Given the description of an element on the screen output the (x, y) to click on. 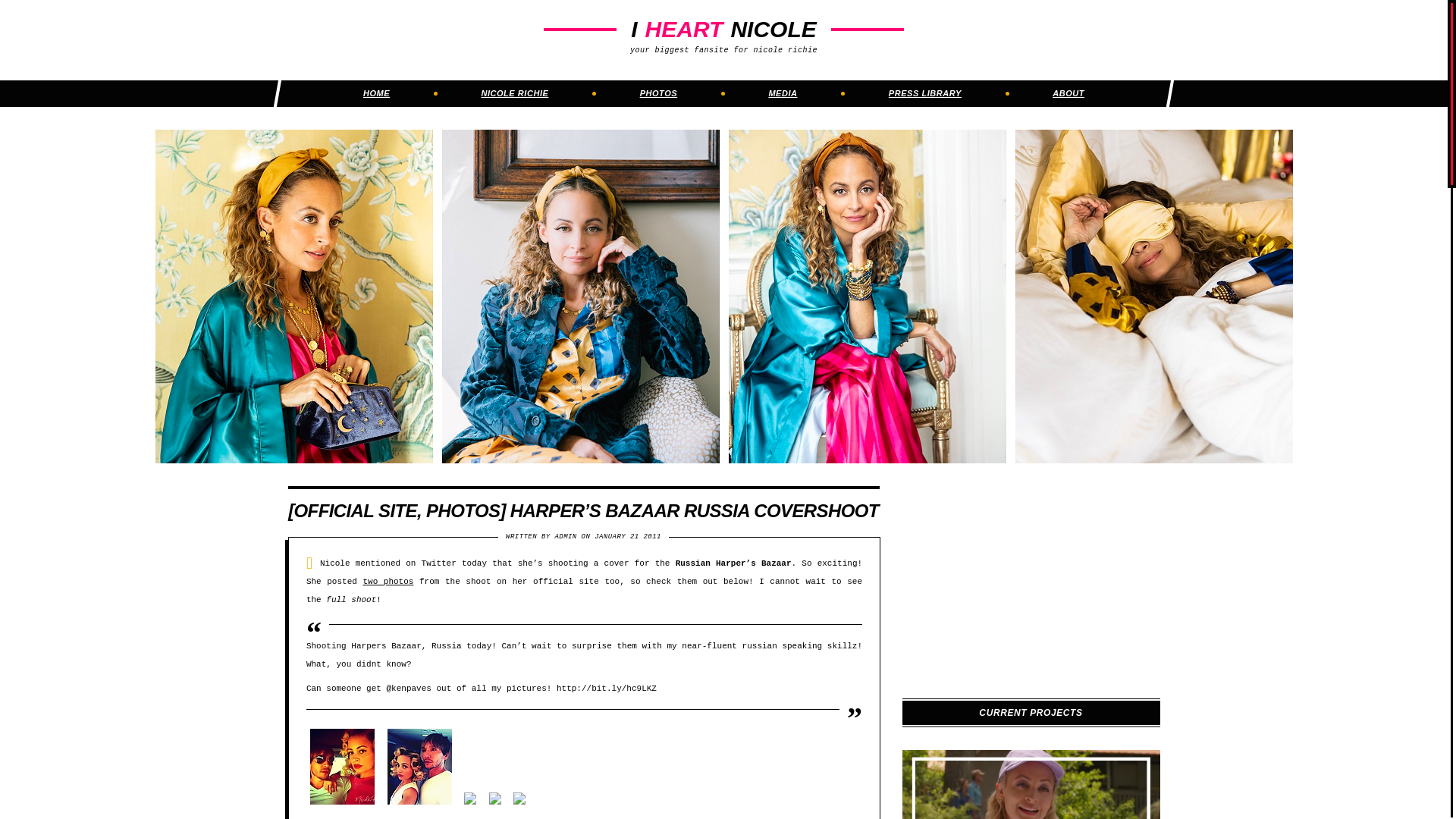
PHOTOS (659, 92)
ABOUT (1068, 92)
PRESS LIBRARY (924, 92)
MEDIA (782, 92)
NICOLE RICHIE (514, 92)
HOME (376, 92)
